Given the description of an element on the screen output the (x, y) to click on. 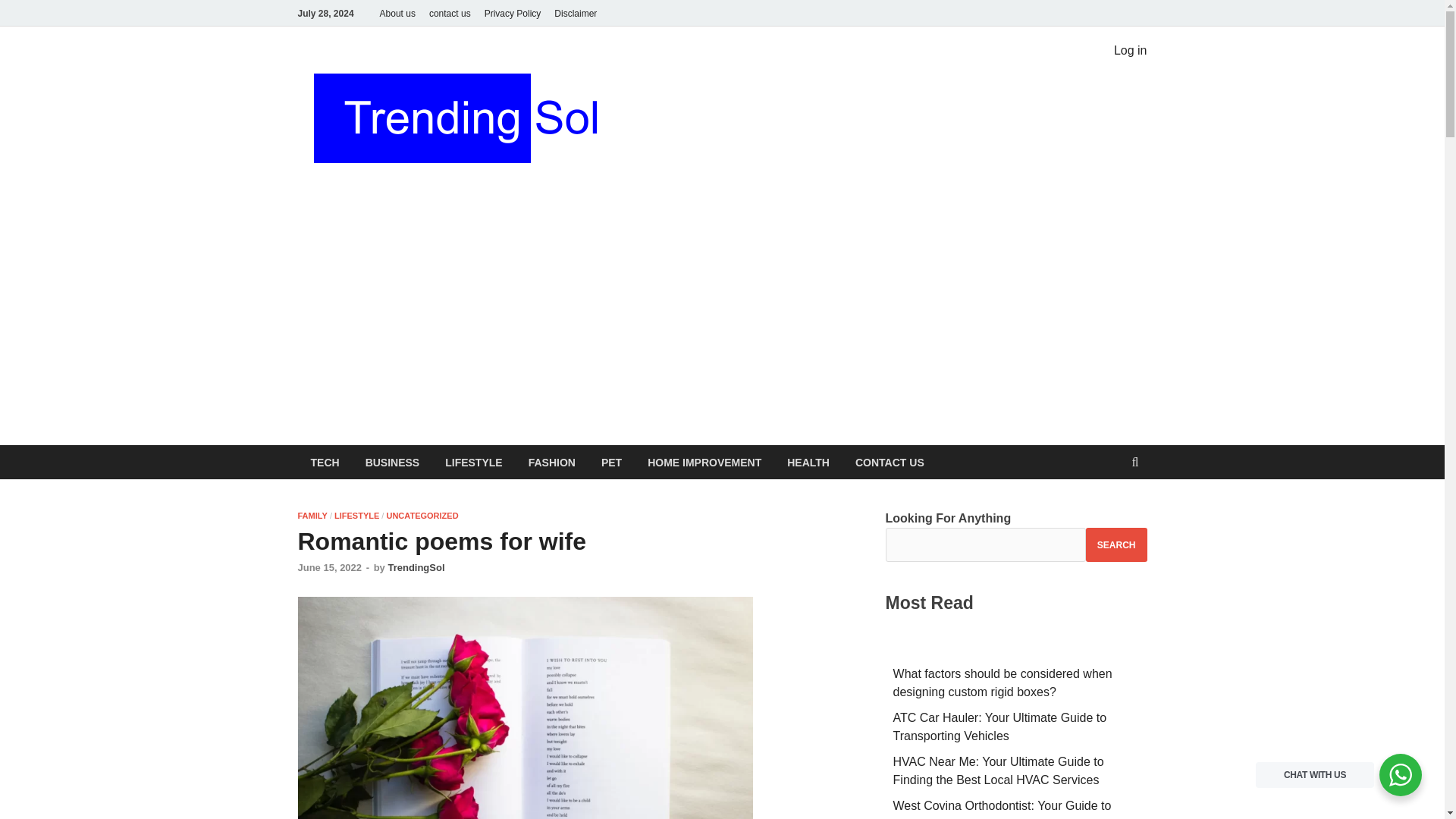
Trending Sol (709, 78)
FASHION (551, 462)
CONTACT US (890, 462)
TrendingSol (415, 567)
Log in (1130, 50)
Privacy Policy (512, 13)
Disclaimer (575, 13)
LIFESTYLE (473, 462)
HEALTH (808, 462)
June 15, 2022 (329, 567)
contact us (449, 13)
About us (397, 13)
TECH (324, 462)
UNCATEGORIZED (421, 515)
